Given the description of an element on the screen output the (x, y) to click on. 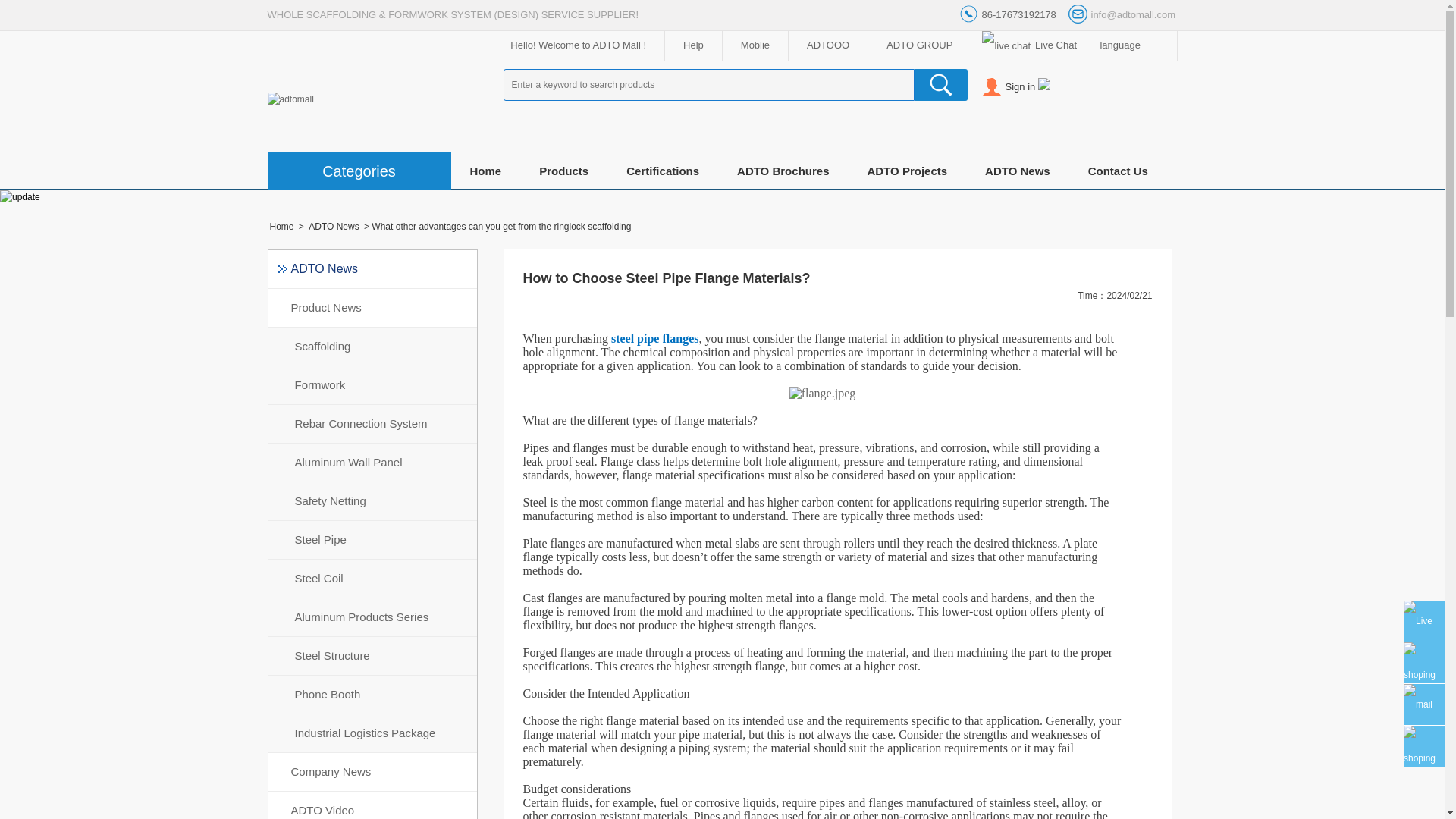
ADTOOO (827, 45)
Sign in (1025, 87)
Moblie (755, 45)
Live Chat (1025, 45)
Categories (357, 175)
86-17673192178 (1012, 15)
flange.jpeg (822, 393)
ADTO GROUP (919, 45)
